Given the description of an element on the screen output the (x, y) to click on. 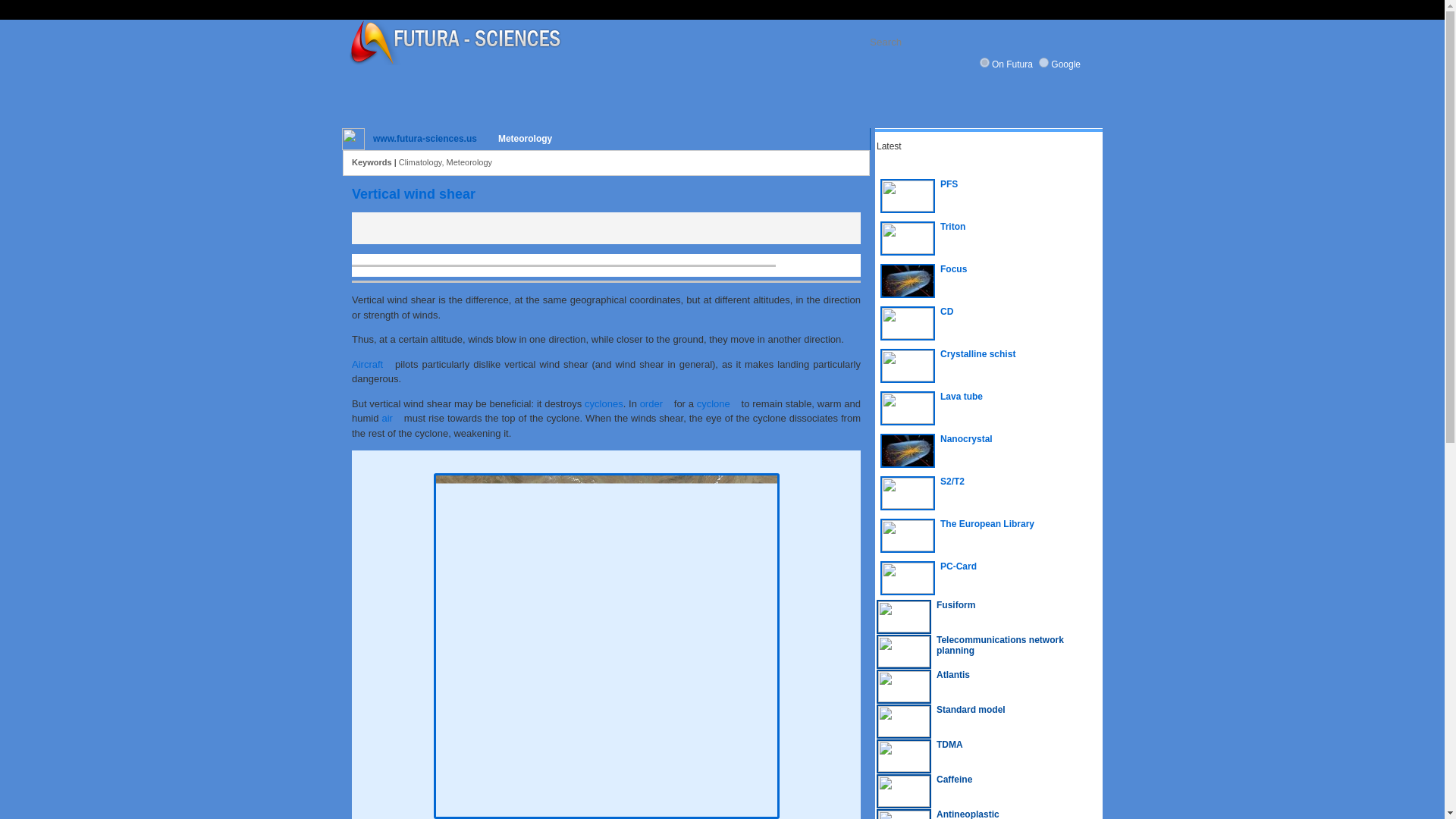
Meteorology (524, 138)
Dossier Cyclone, ouragan, typhon : qui sont-ils ? (604, 402)
Search (963, 41)
Focus (988, 281)
order (655, 402)
www.futura-sciences.us (424, 138)
cyclone (717, 402)
Aircraft (371, 363)
air (390, 418)
PFS (988, 196)
